Given the description of an element on the screen output the (x, y) to click on. 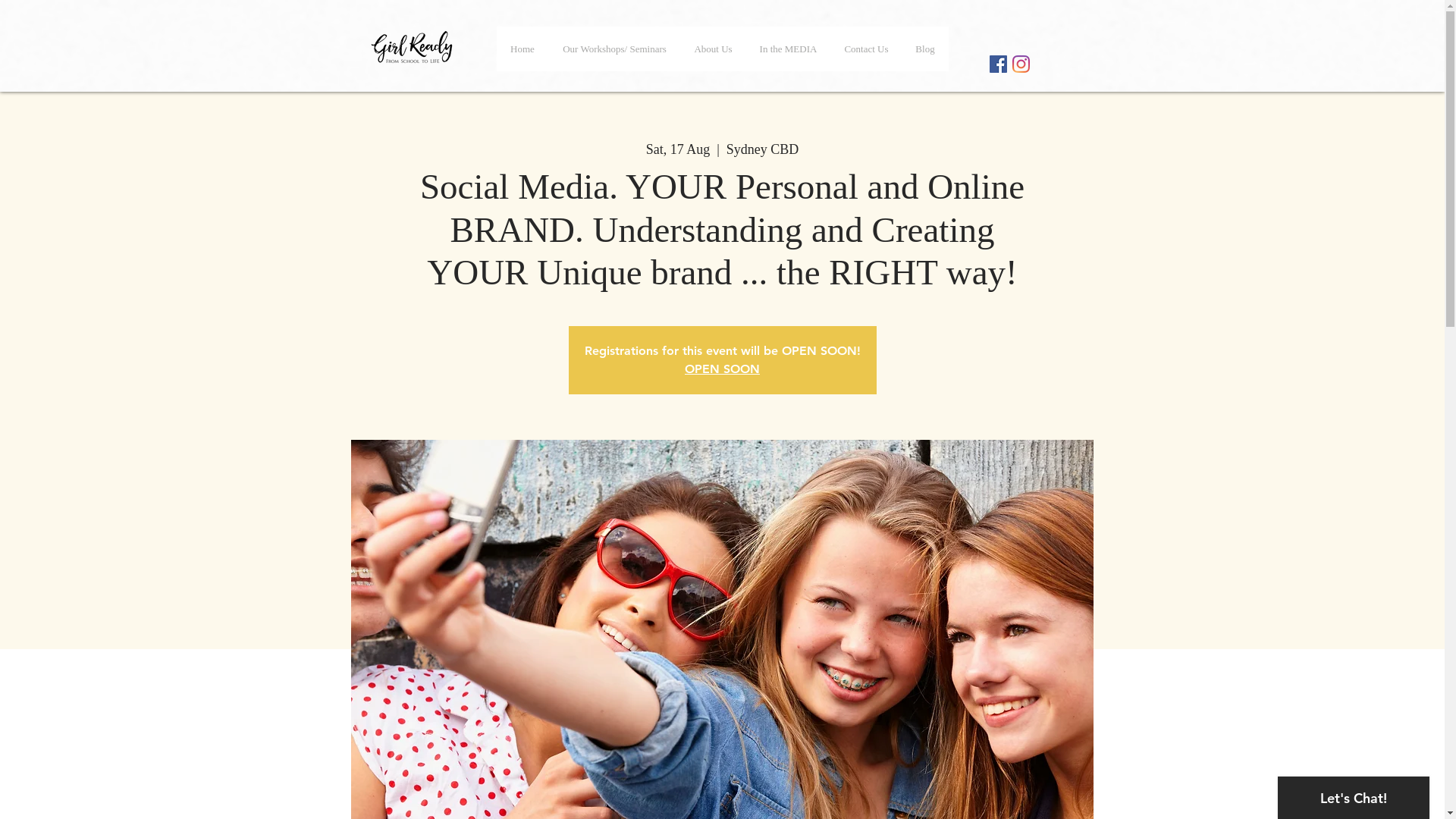
About Us Element type: text (713, 48)
OPEN SOON Element type: text (721, 368)
Blog Element type: text (925, 48)
Home Element type: text (521, 48)
Contact Us Element type: text (866, 48)
Our Workshops/ Seminars Element type: text (614, 48)
In the MEDIA Element type: text (788, 48)
